Given the description of an element on the screen output the (x, y) to click on. 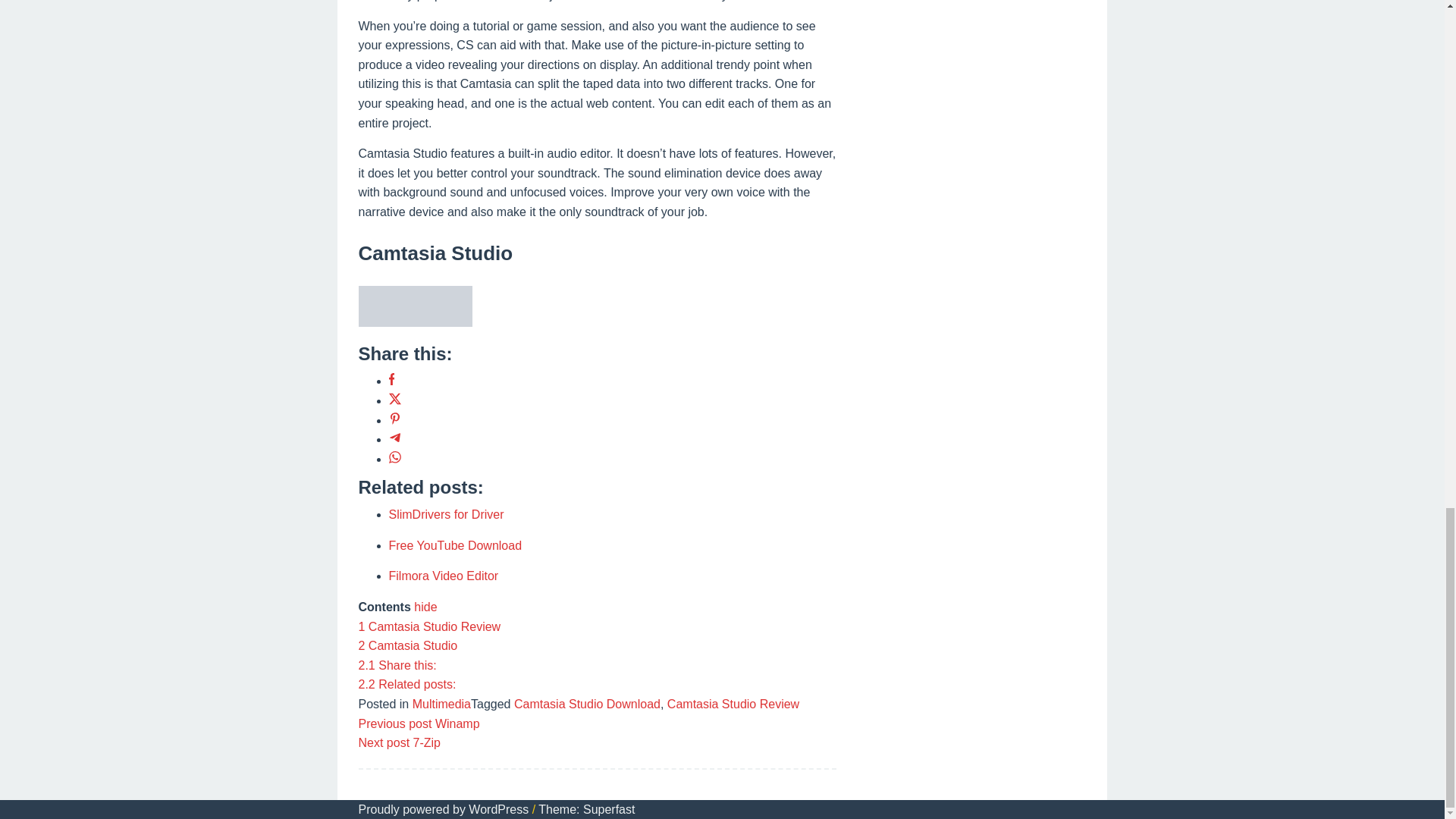
Pin this (394, 420)
Whatsapp (394, 459)
Previous post Winamp (418, 723)
Permalink to: Free YouTube Download (454, 545)
2 Camtasia Studio (407, 645)
Multimedia (441, 703)
Permalink to: Filmora Video Editor (442, 575)
Permalink to: SlimDrivers for Driver (445, 513)
Free YouTube Download (454, 545)
Next post 7-Zip (399, 742)
Tweet this (394, 400)
SlimDrivers for Driver (445, 513)
2.2 Related posts: (406, 684)
Proudly powered by WordPress (443, 809)
2.1 Share this: (396, 665)
